Given the description of an element on the screen output the (x, y) to click on. 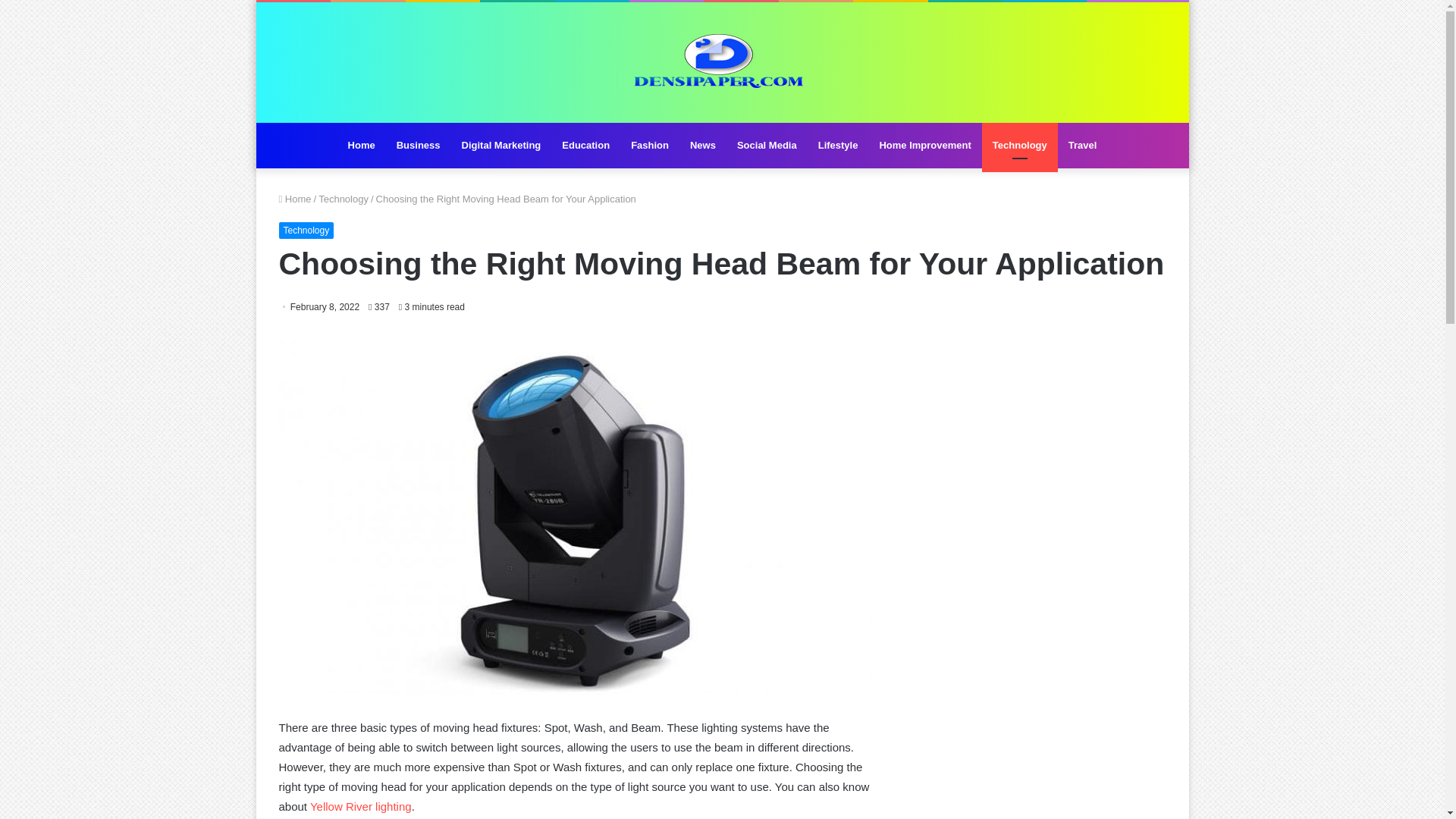
Digital Marketing (501, 145)
Business (418, 145)
Home (295, 198)
Home Improvement (924, 145)
Social Media (767, 145)
Lifestyle (838, 145)
Education (585, 145)
Technology (1019, 145)
Travel (1083, 145)
Yellow River lighting (361, 806)
